Given the description of an element on the screen output the (x, y) to click on. 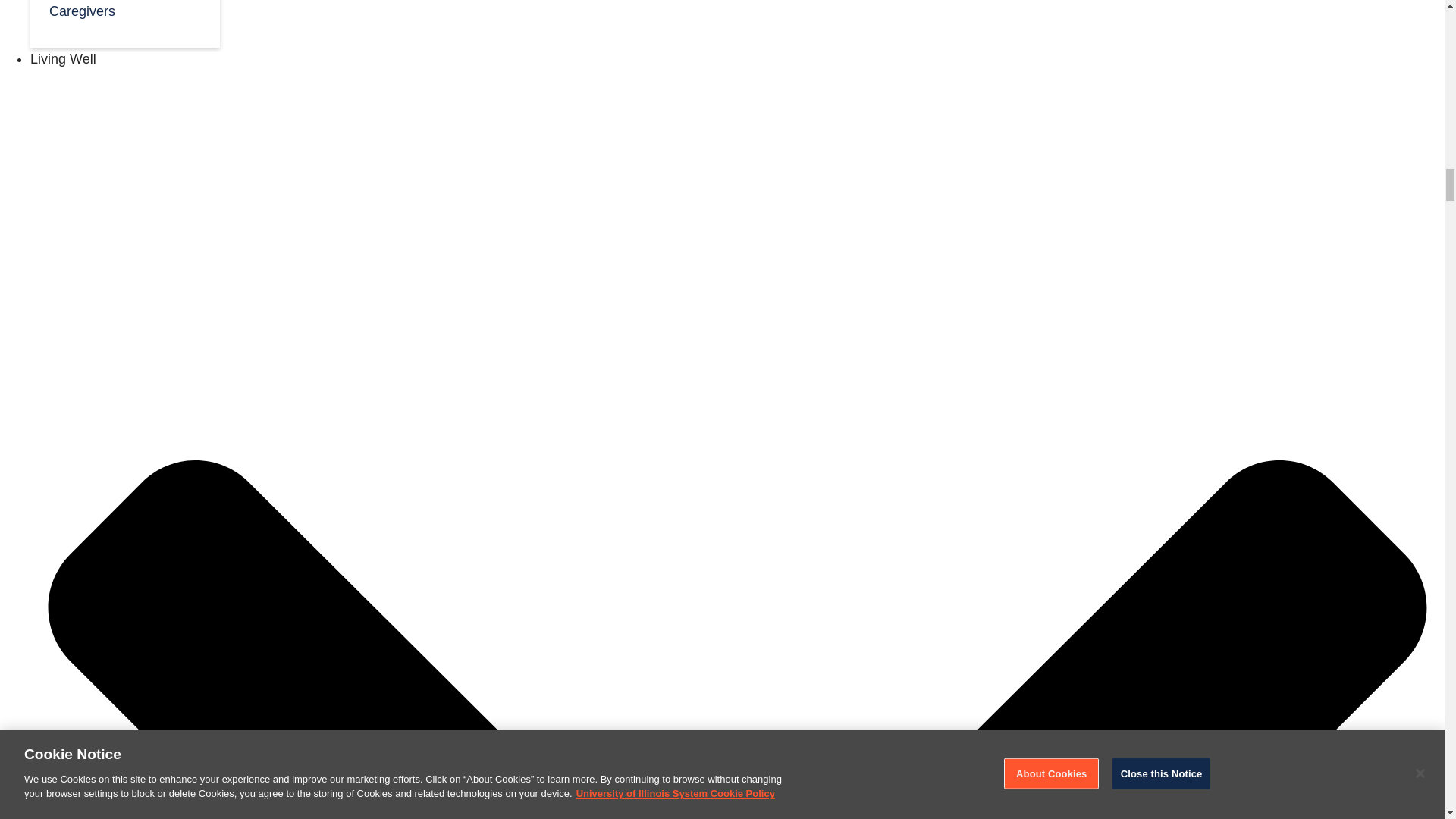
Couple Relationships for Caregivers (125, 14)
Living Well (63, 58)
